Given the description of an element on the screen output the (x, y) to click on. 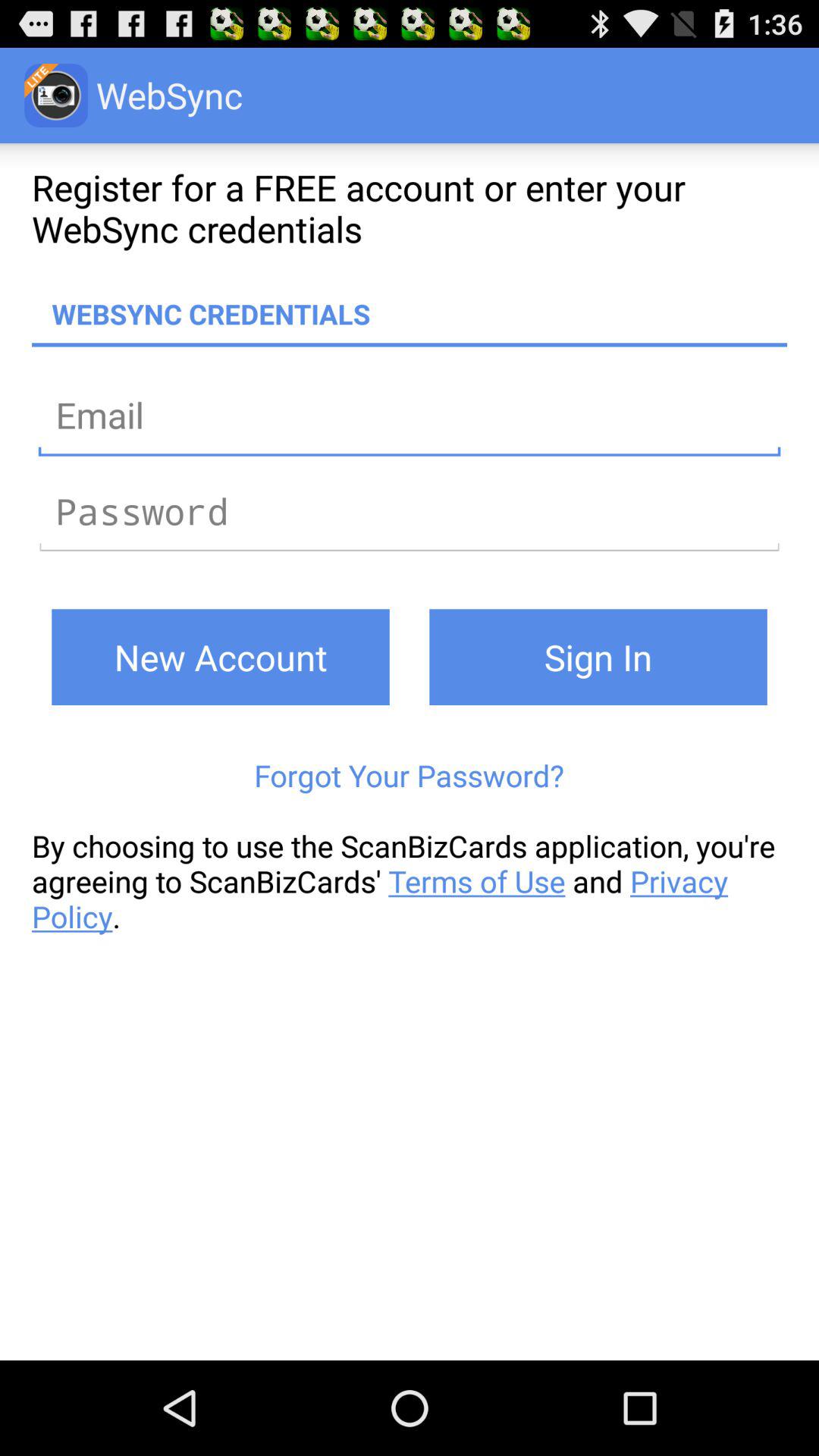
flip to the by choosing to icon (409, 880)
